Given the description of an element on the screen output the (x, y) to click on. 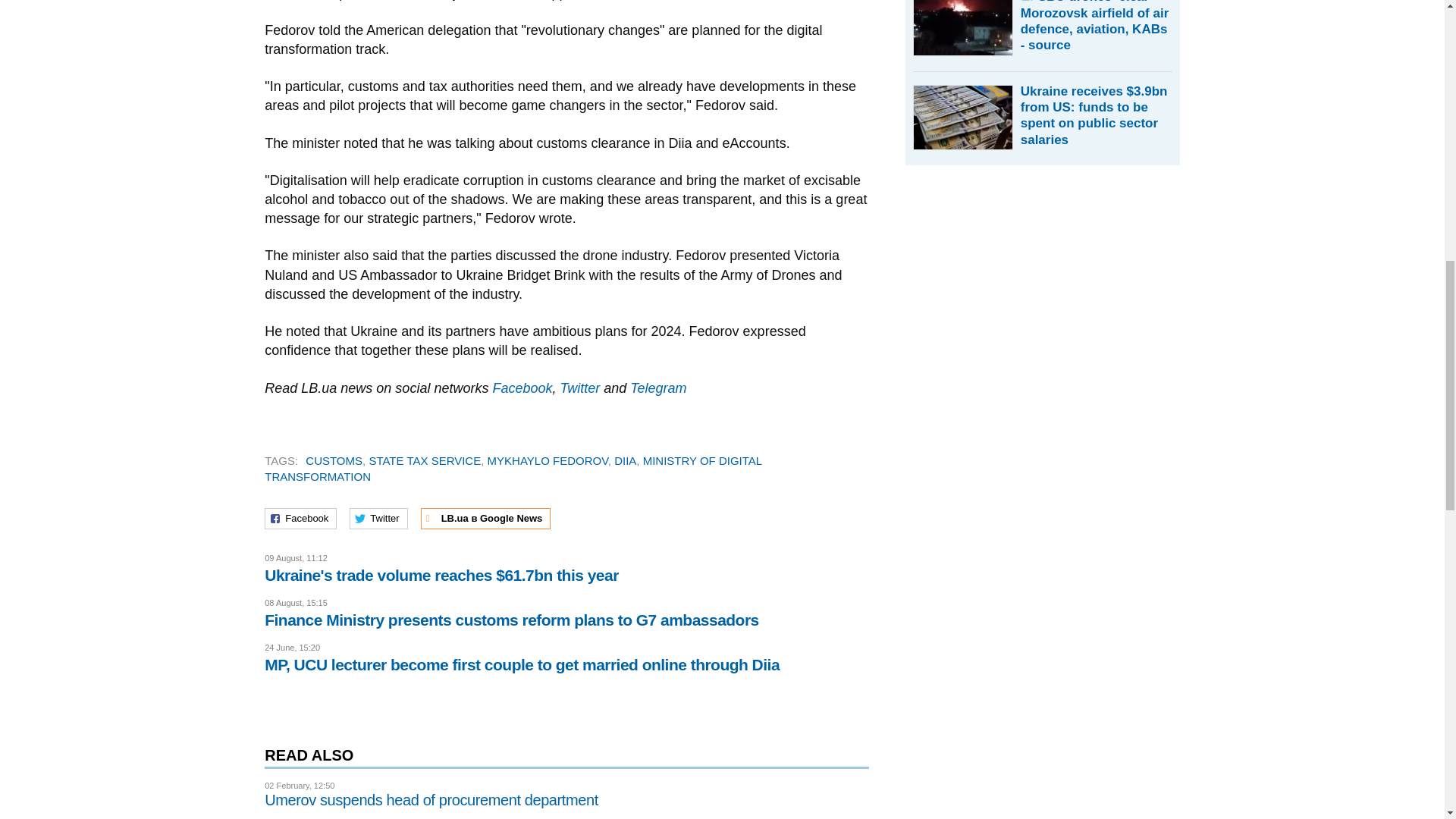
DIIA (625, 460)
Telegram (657, 387)
Facebook (521, 387)
Twitter (579, 387)
MINISTRY OF DIGITAL TRANSFORMATION (512, 469)
Umerov suspends head of procurement department (431, 799)
MYKHAYLO FEDOROV (547, 460)
STATE TAX SERVICE (424, 460)
CUSTOMS (333, 460)
